Given the description of an element on the screen output the (x, y) to click on. 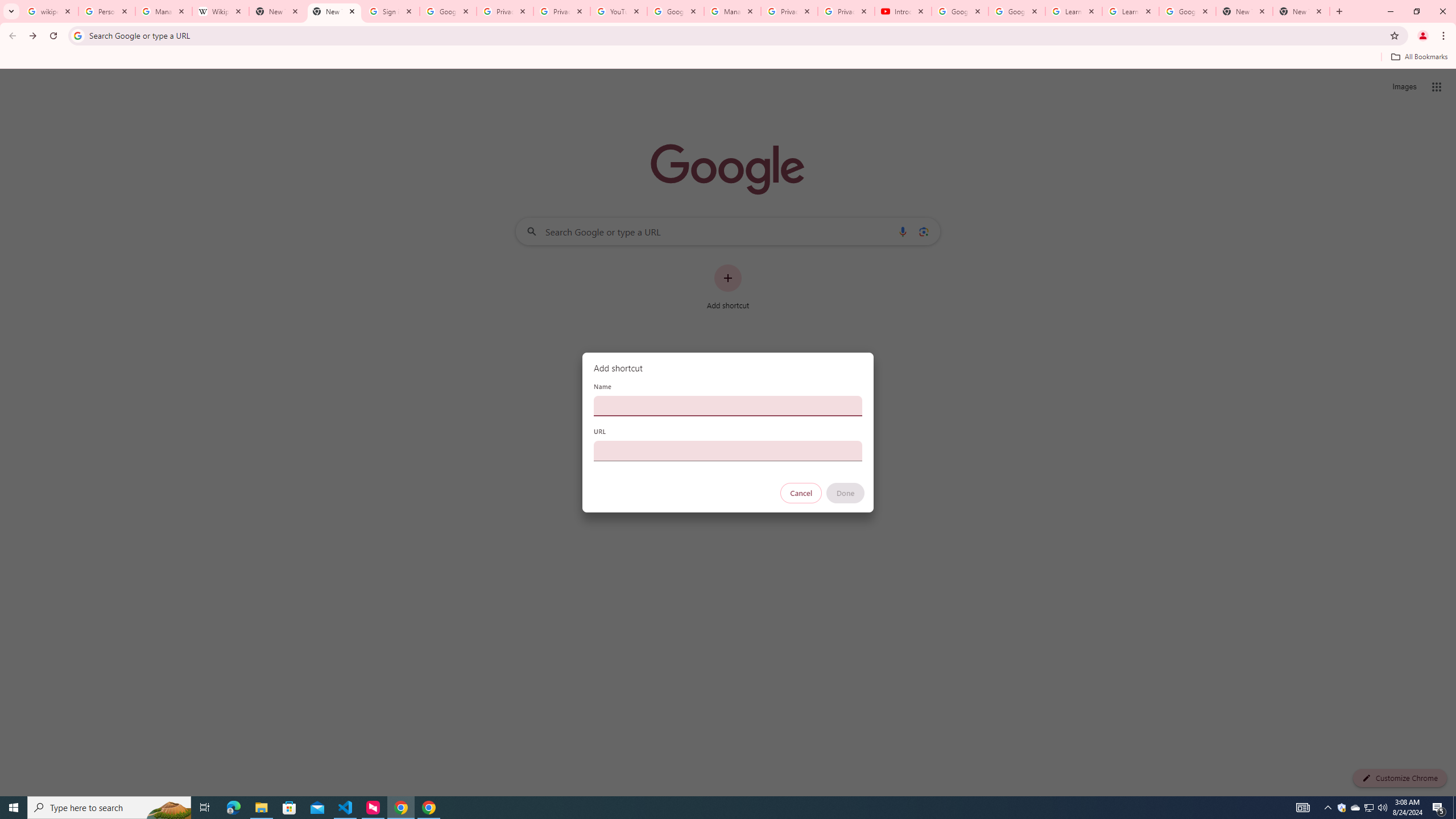
Personalization & Google Search results - Google Search Help (105, 11)
Manage your Location History - Google Search Help (163, 11)
Sign in - Google Accounts (391, 11)
URL (727, 450)
New Tab (334, 11)
New Tab (1301, 11)
